Given the description of an element on the screen output the (x, y) to click on. 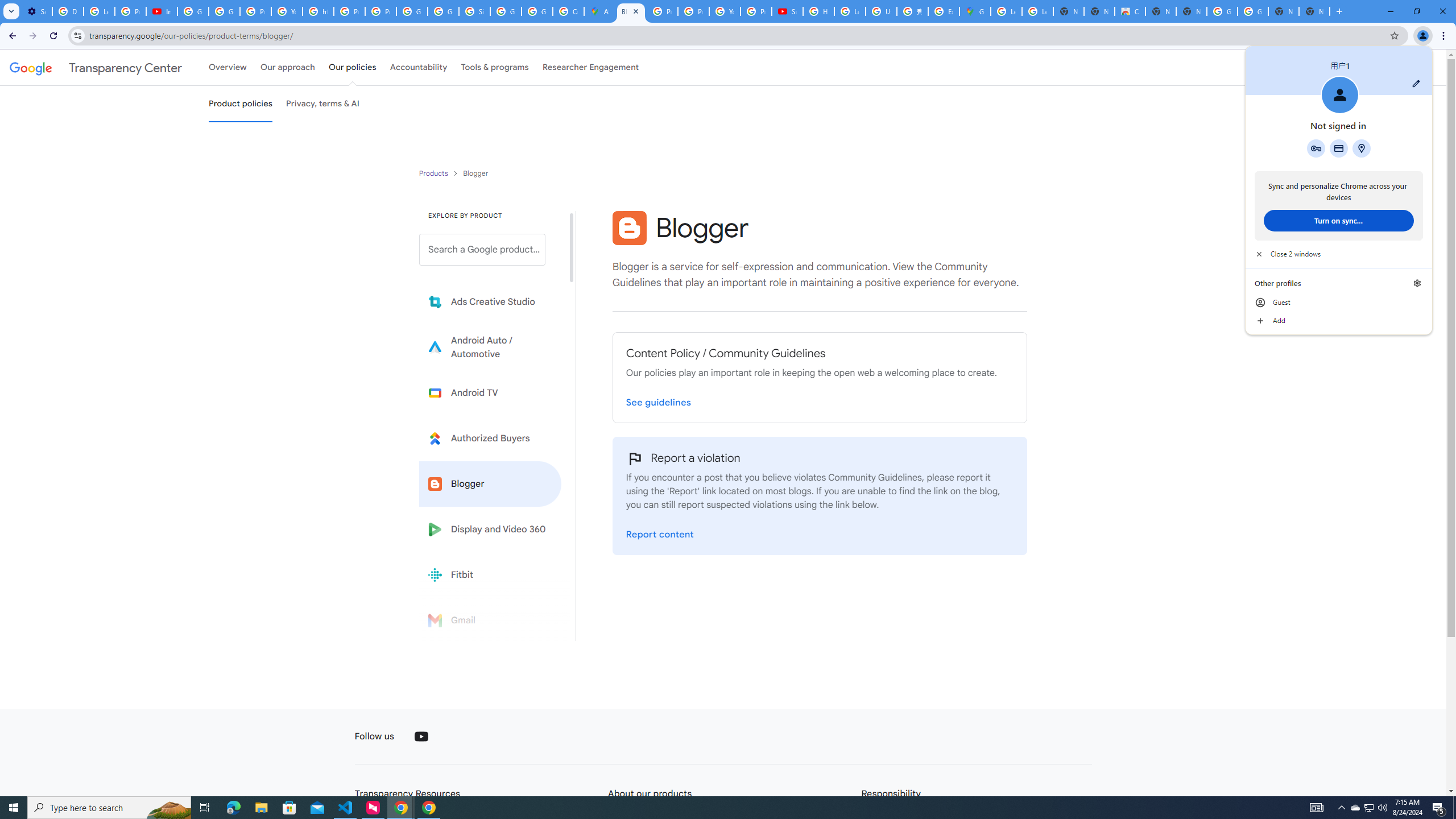
Sign in - Google Accounts (474, 11)
Blogger (490, 483)
Show desktop (1454, 807)
Add (1338, 321)
Google Images (1222, 11)
Privacy Help Center - Policies Help (662, 11)
